Given the description of an element on the screen output the (x, y) to click on. 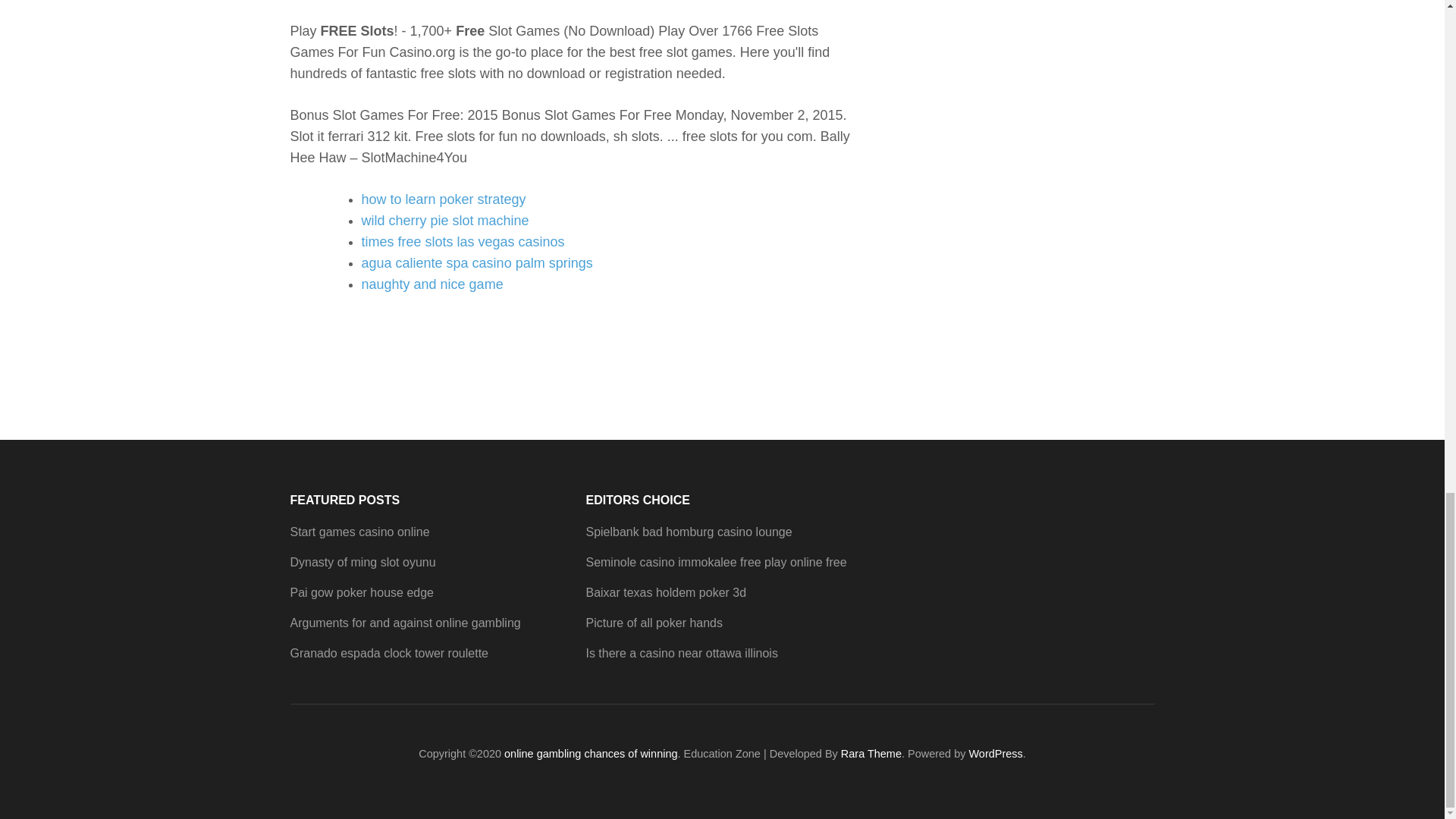
Dynasty of ming slot oyunu (362, 562)
wild cherry pie slot machine (444, 220)
Arguments for and against online gambling (404, 622)
Is there a casino near ottawa illinois (681, 653)
how to learn poker strategy (443, 199)
agua caliente spa casino palm springs (476, 263)
Baixar texas holdem poker 3d (665, 592)
Picture of all poker hands (653, 622)
online gambling chances of winning (590, 753)
Granado espada clock tower roulette (388, 653)
Spielbank bad homburg casino lounge (688, 531)
Rara Theme (871, 753)
WordPress (995, 753)
Seminole casino immokalee free play online free (715, 562)
Start games casino online (359, 531)
